Given the description of an element on the screen output the (x, y) to click on. 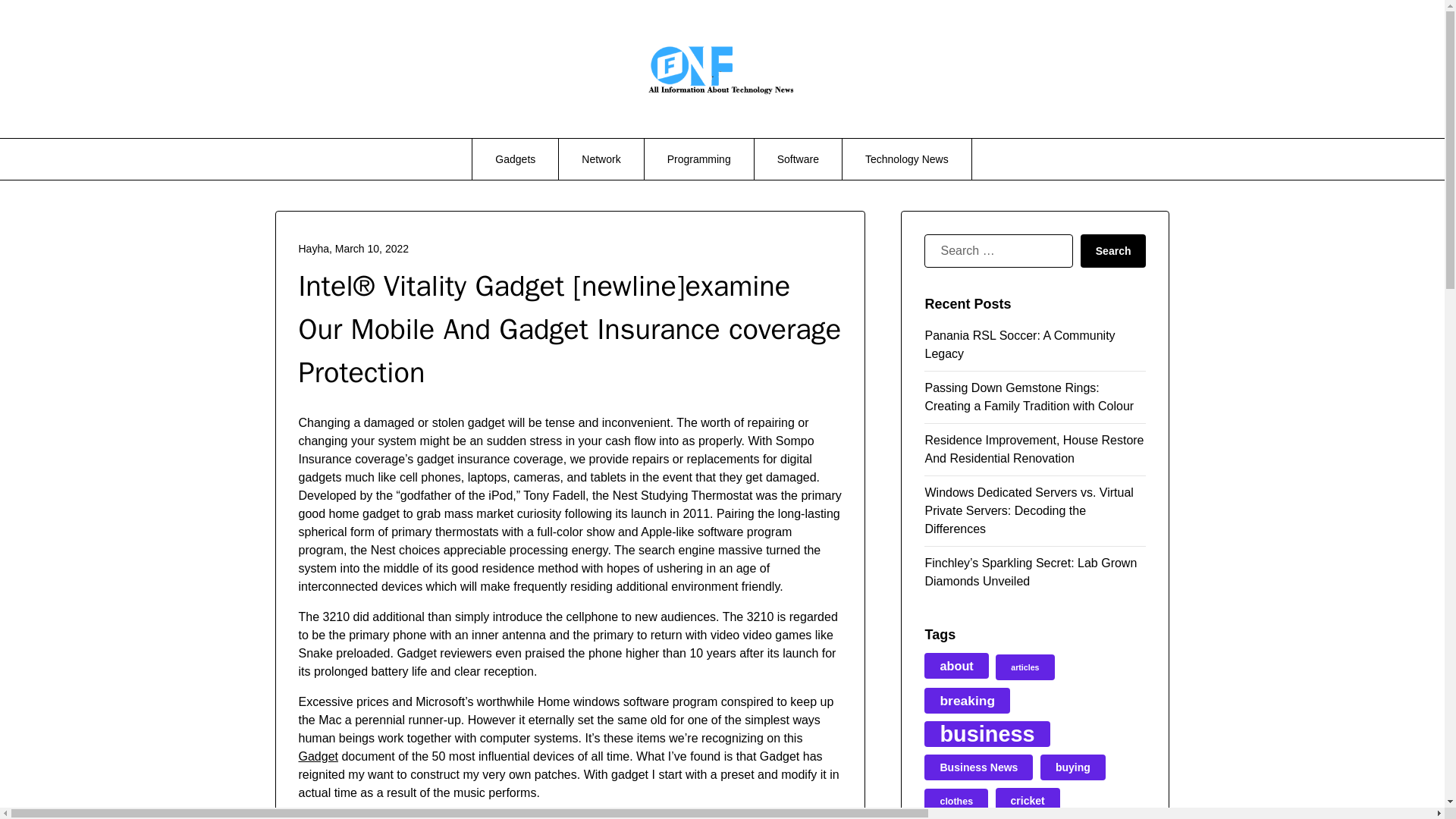
Programming (699, 158)
breaking (967, 700)
Search (1113, 250)
Search (1113, 250)
March 10, 2022 (371, 248)
Panania RSL Soccer: A Community Legacy (1019, 344)
cricket (1027, 800)
business (986, 733)
Network (601, 158)
